Given the description of an element on the screen output the (x, y) to click on. 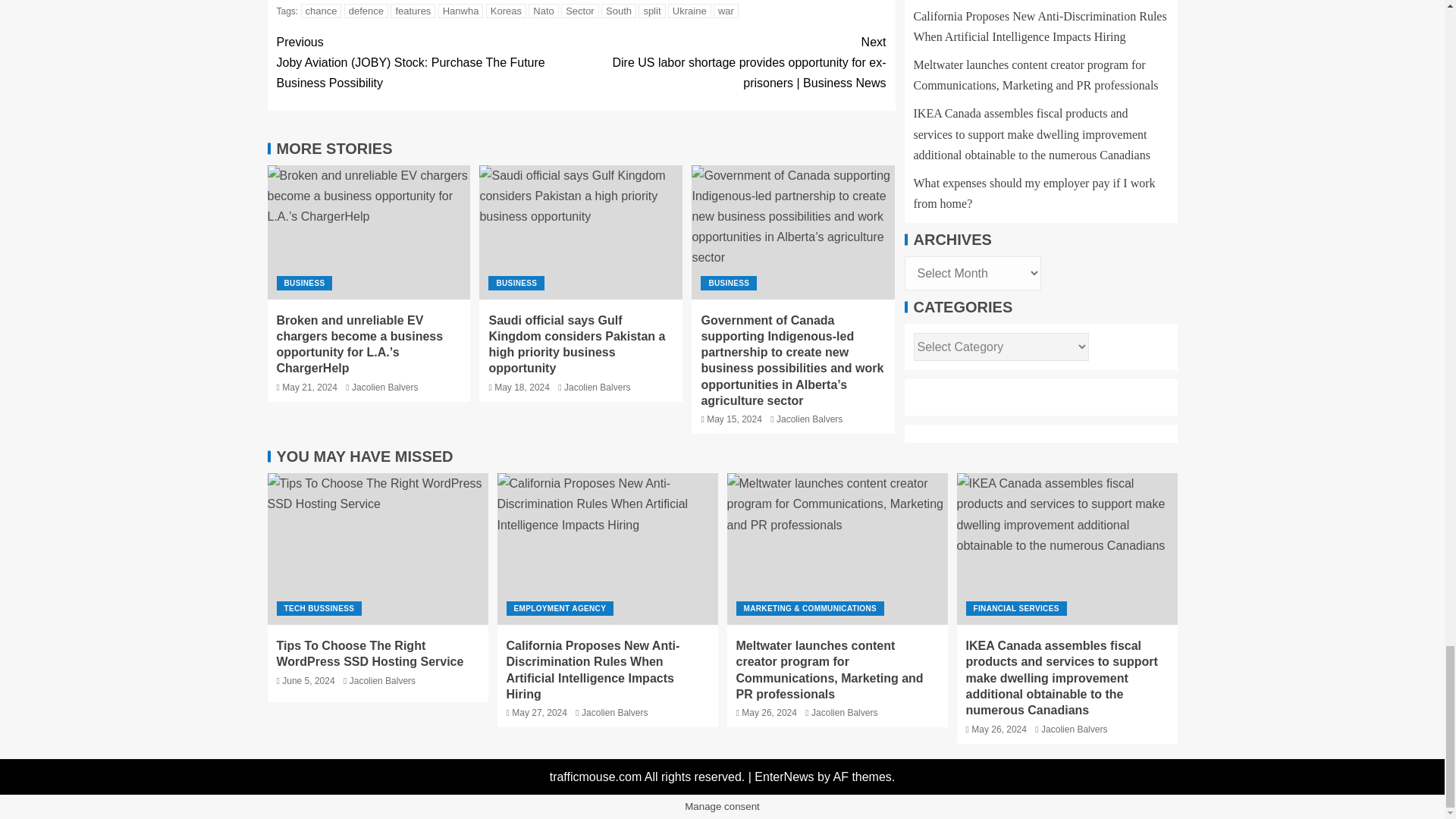
Tips To Choose The Right WordPress SSD Hosting Service (376, 548)
chance (321, 11)
Jacolien Balvers (384, 387)
Koreas (505, 11)
Hanwha (460, 11)
South (618, 11)
war (725, 11)
Nato (542, 11)
Ukraine (689, 11)
BUSINESS (303, 283)
defence (365, 11)
